Given the description of an element on the screen output the (x, y) to click on. 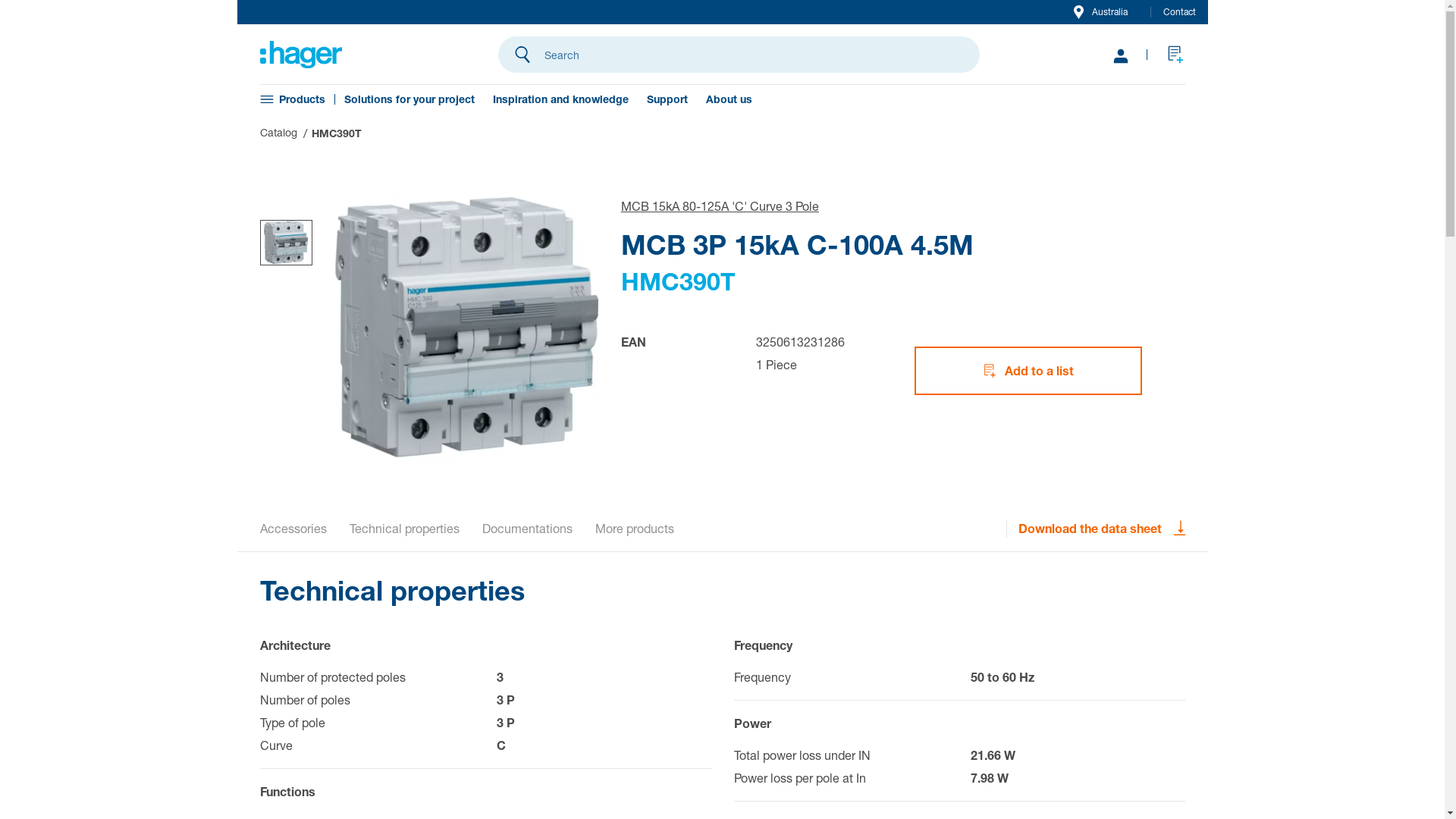
MCB 15kA 80-125A 'C' Curve 3 Pole Element type: text (720, 205)
Technical properties Element type: text (403, 528)
Documentations Element type: text (527, 528)
Solutions for your project Element type: text (409, 98)
About us Element type: text (728, 98)
Download the data sheet Element type: text (1100, 528)
Accessories Element type: text (292, 528)
Add to a list Element type: text (1028, 370)
Inspiration and knowledge Element type: text (560, 98)
Contact Element type: text (1179, 12)
Australia Element type: text (1100, 11)
More products Element type: text (633, 528)
HMC390T - MCB 3P 15kA C-100A 4.5M Element type: hover (300, 54)
HMC390T Element type: text (335, 132)
Products Element type: text (301, 98)
Catalog Element type: text (277, 132)
Support Element type: text (666, 98)
